Given the description of an element on the screen output the (x, y) to click on. 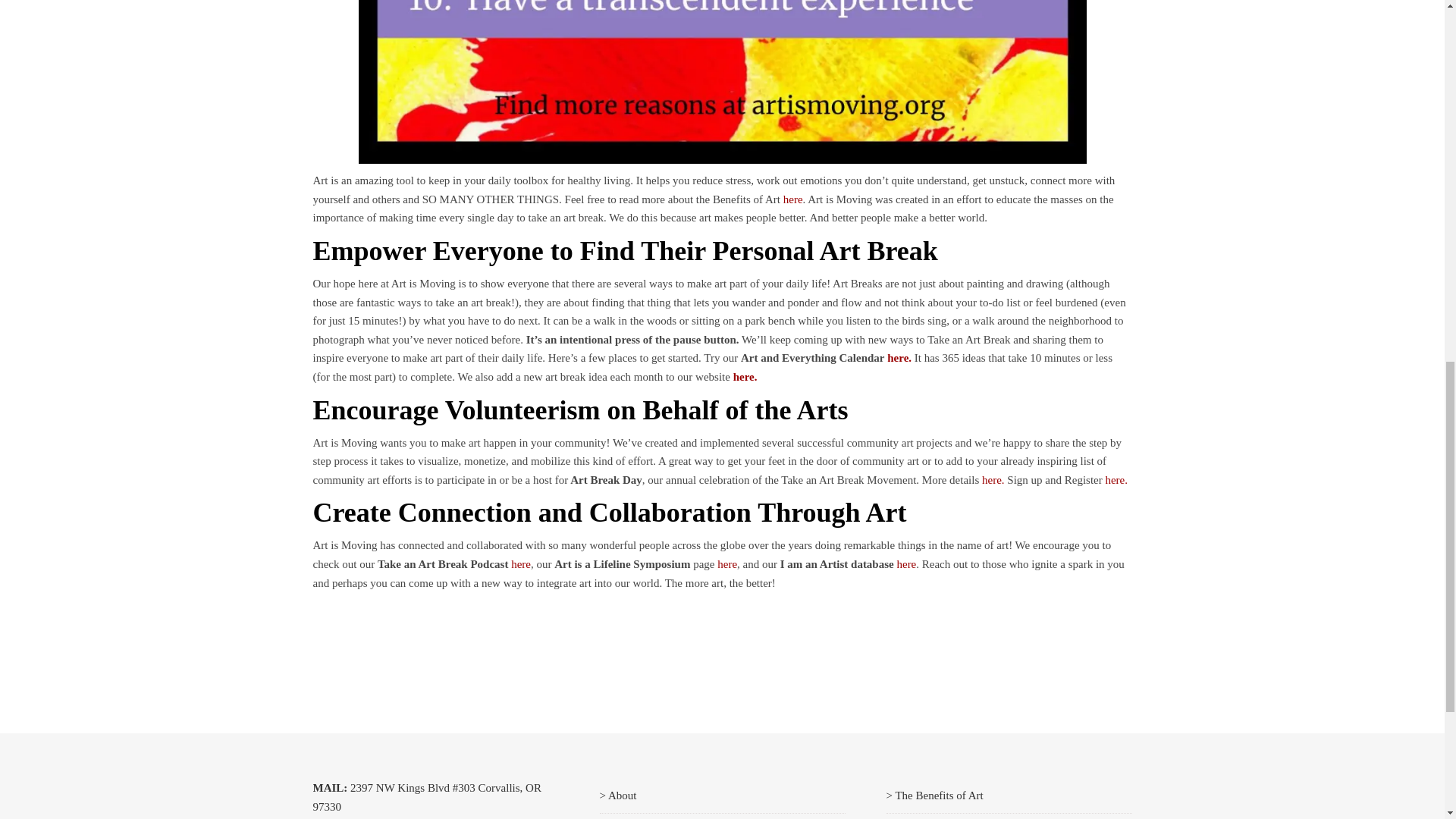
here. (745, 377)
here (521, 563)
here. (898, 357)
here (726, 563)
here (793, 199)
here. (1115, 480)
here. (992, 480)
here (905, 563)
